Given the description of an element on the screen output the (x, y) to click on. 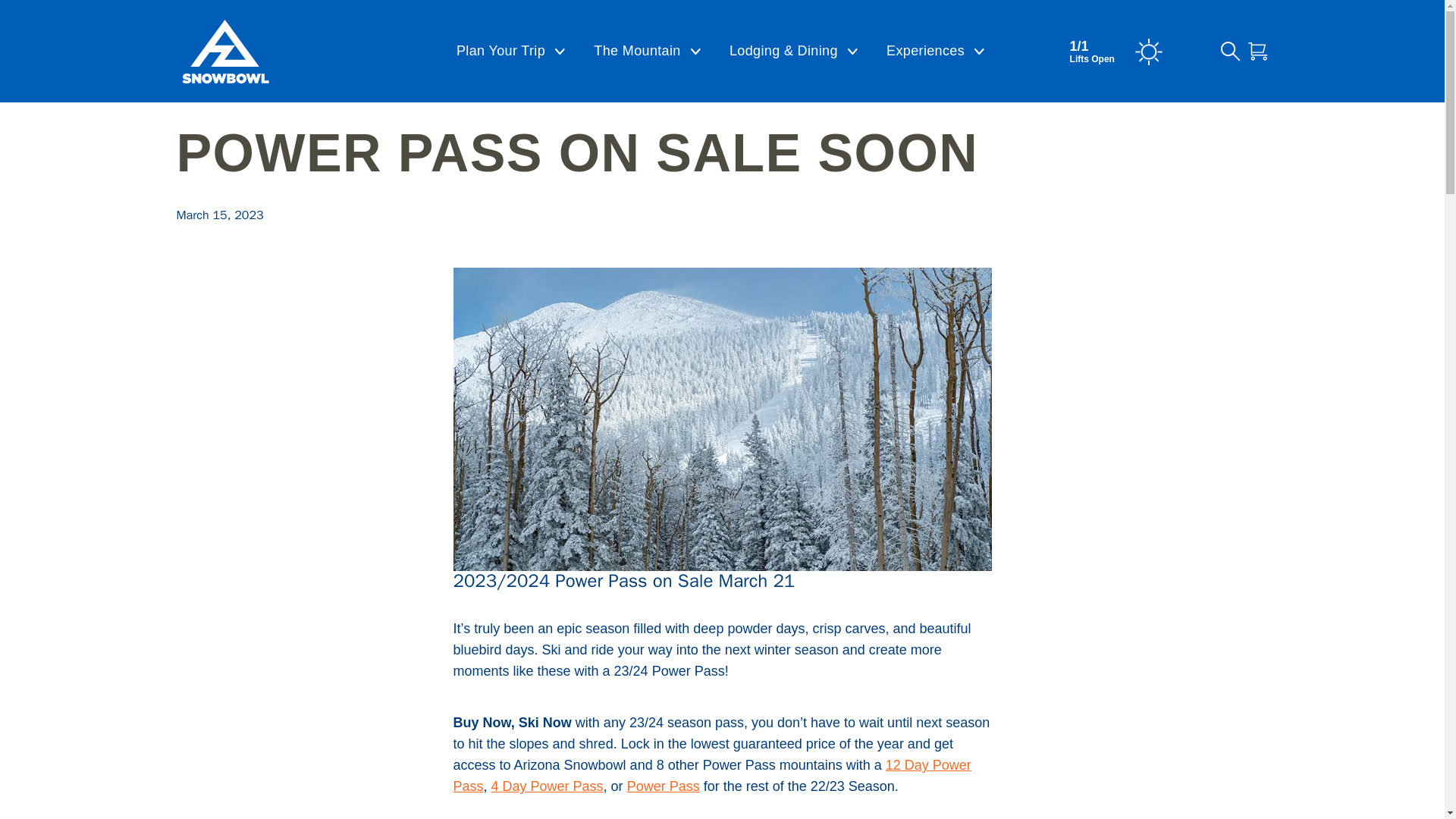
The Mountain (647, 51)
Plan Your Trip (510, 51)
